Given the description of an element on the screen output the (x, y) to click on. 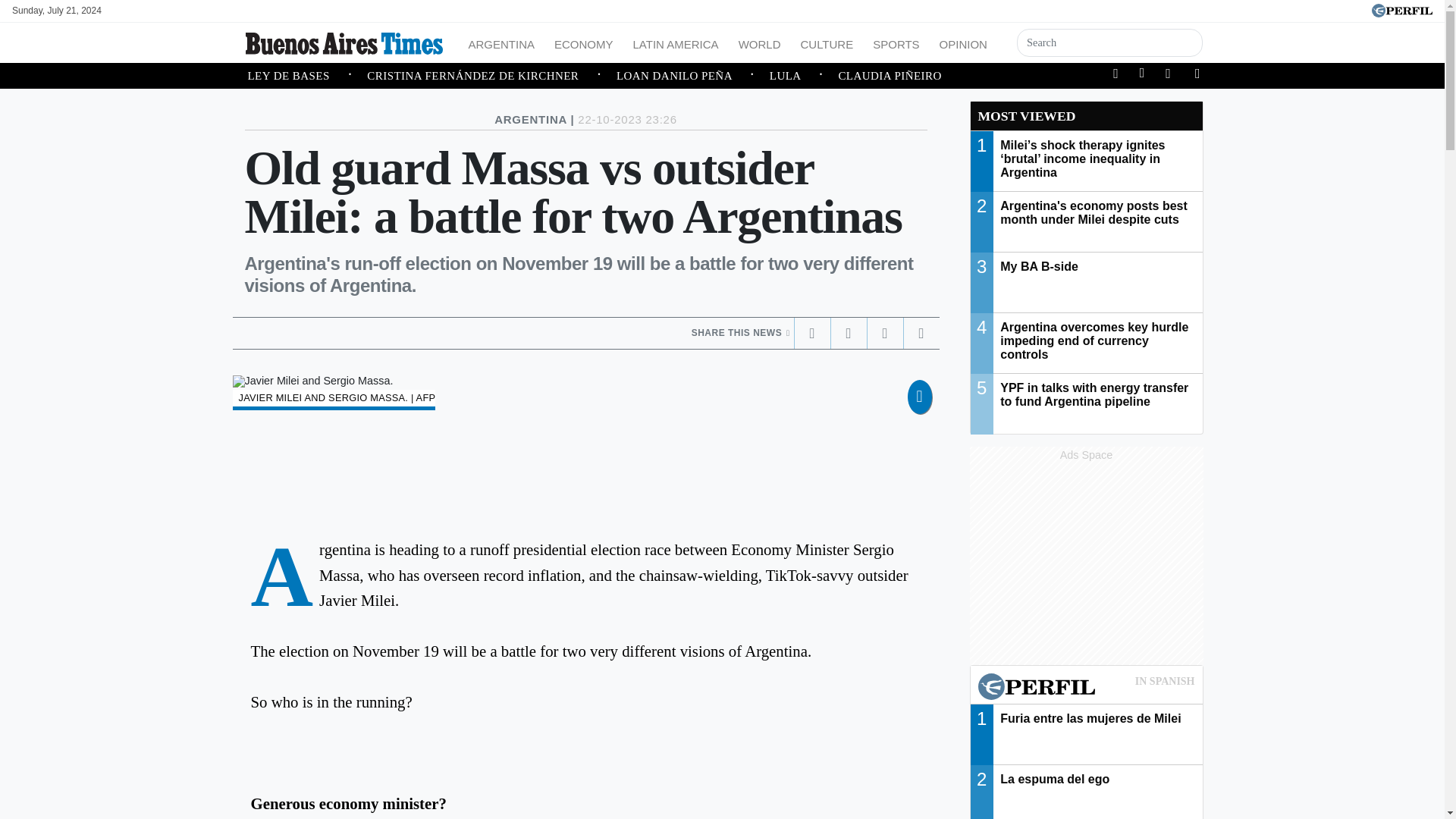
OPINION (962, 42)
LULA (804, 75)
CULTURE (826, 42)
LEY DE BASES (306, 75)
Argentina (502, 42)
World (759, 42)
Economy (584, 42)
LATIN AMERICA (676, 42)
Opinion And Analysis (962, 42)
WORLD (759, 42)
Culture (826, 42)
Sports (895, 42)
SPORTS (895, 42)
